Given the description of an element on the screen output the (x, y) to click on. 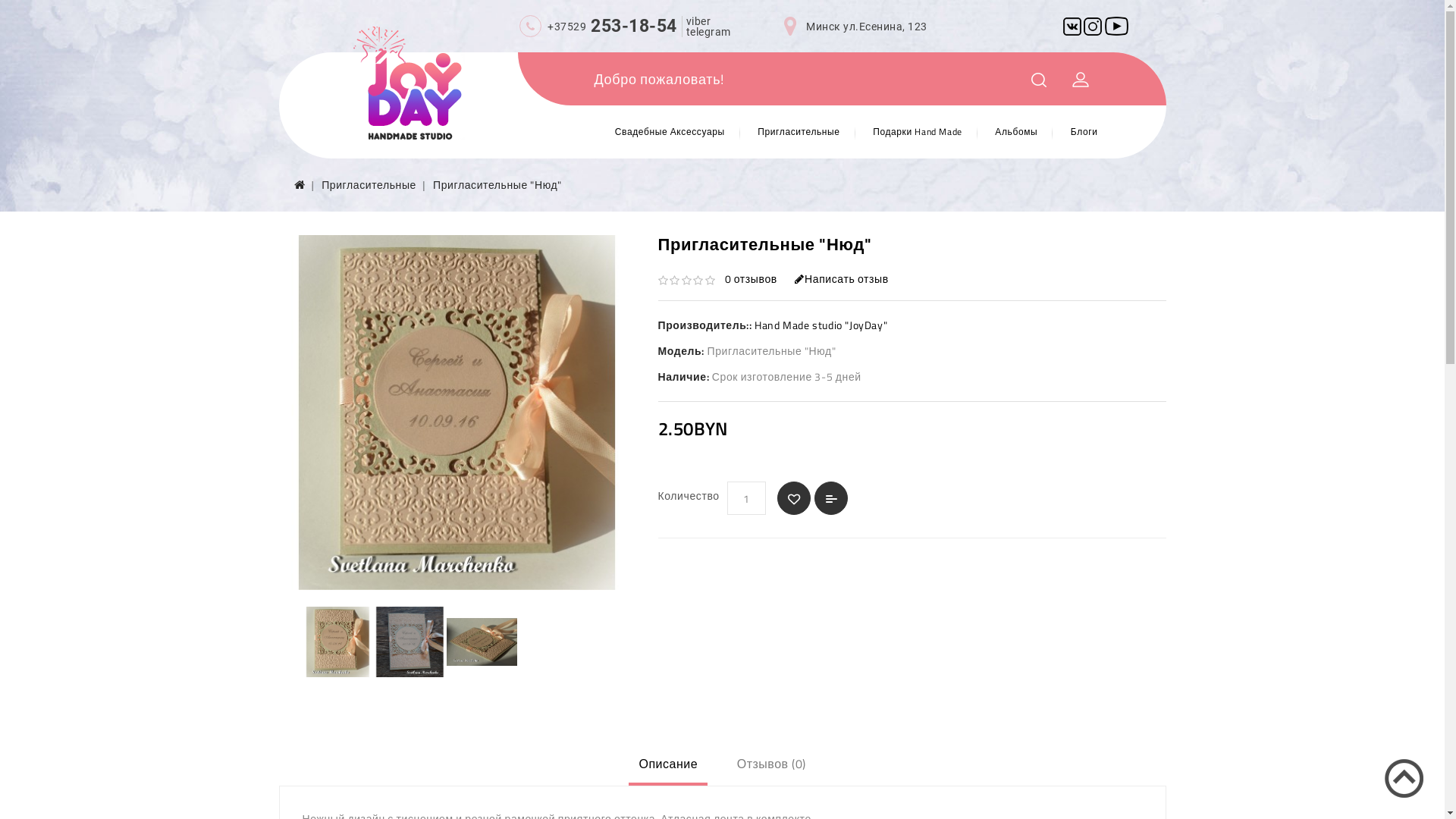
TOP Element type: text (1404, 778)
Hand Made studio "JoyDay" Element type: text (820, 324)
JoyDay  - HandMade studio Element type: hover (407, 83)
